Given the description of an element on the screen output the (x, y) to click on. 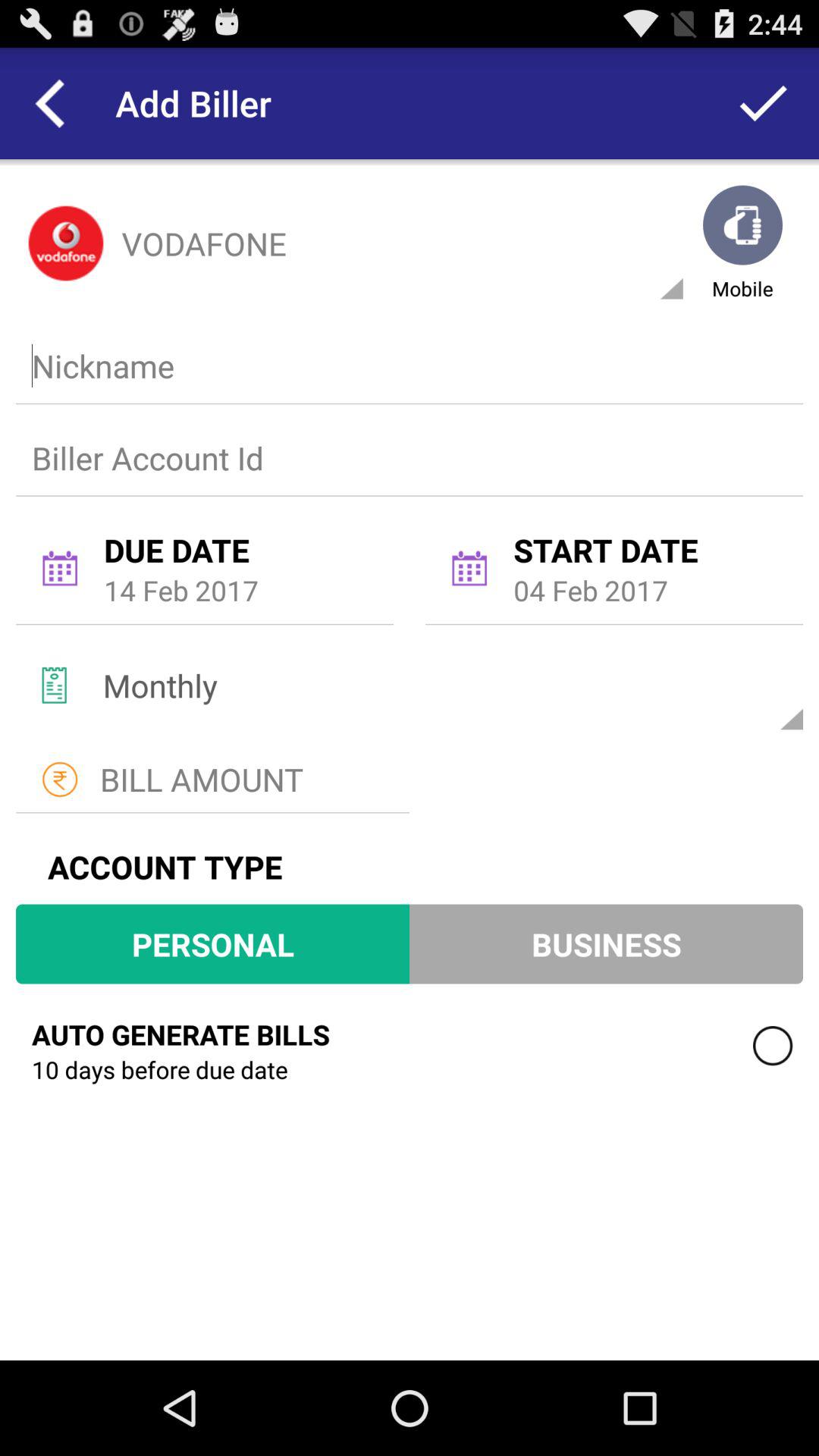
swipe until business item (606, 943)
